Given the description of an element on the screen output the (x, y) to click on. 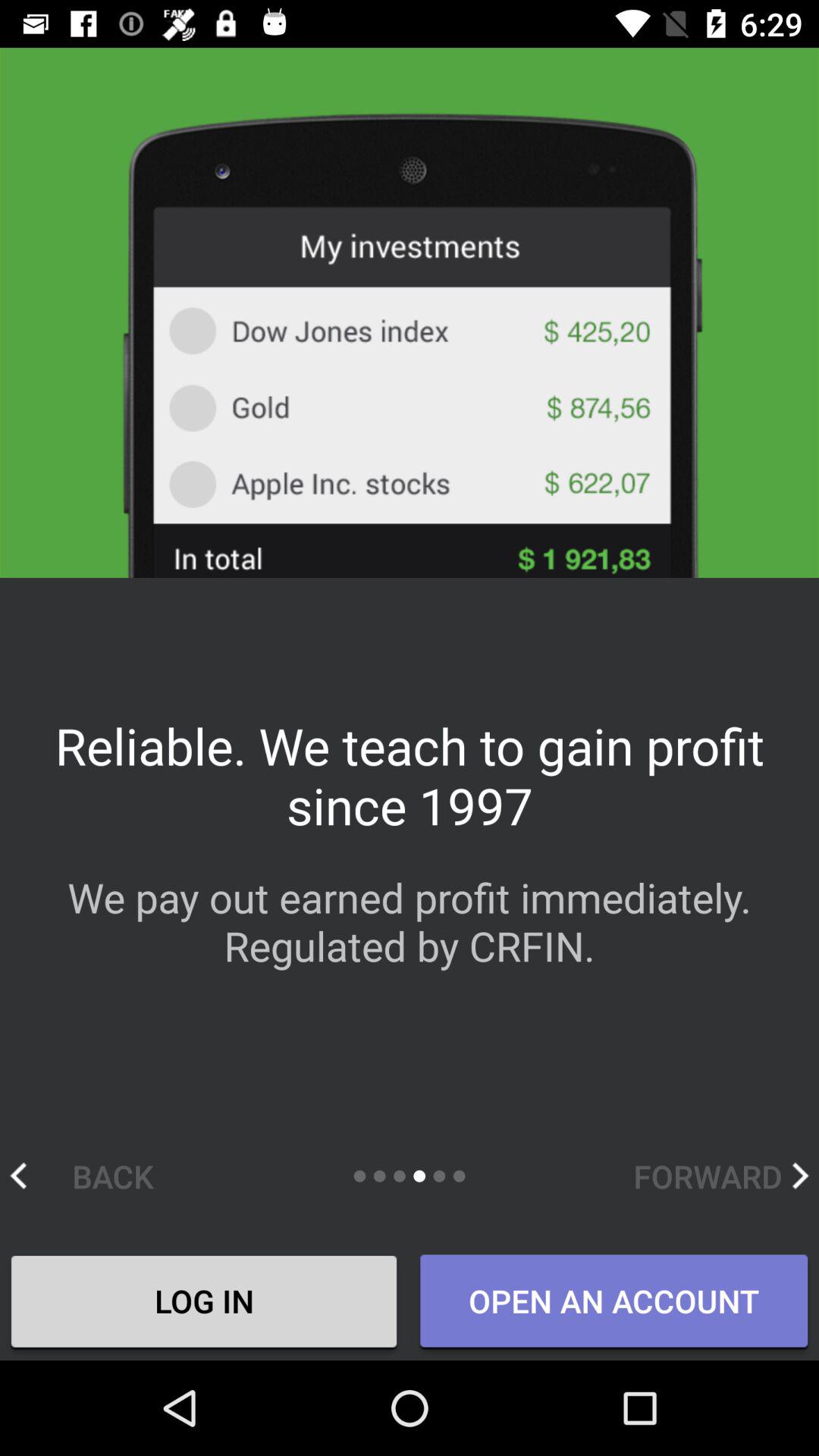
select icon below the we pay out (720, 1175)
